Given the description of an element on the screen output the (x, y) to click on. 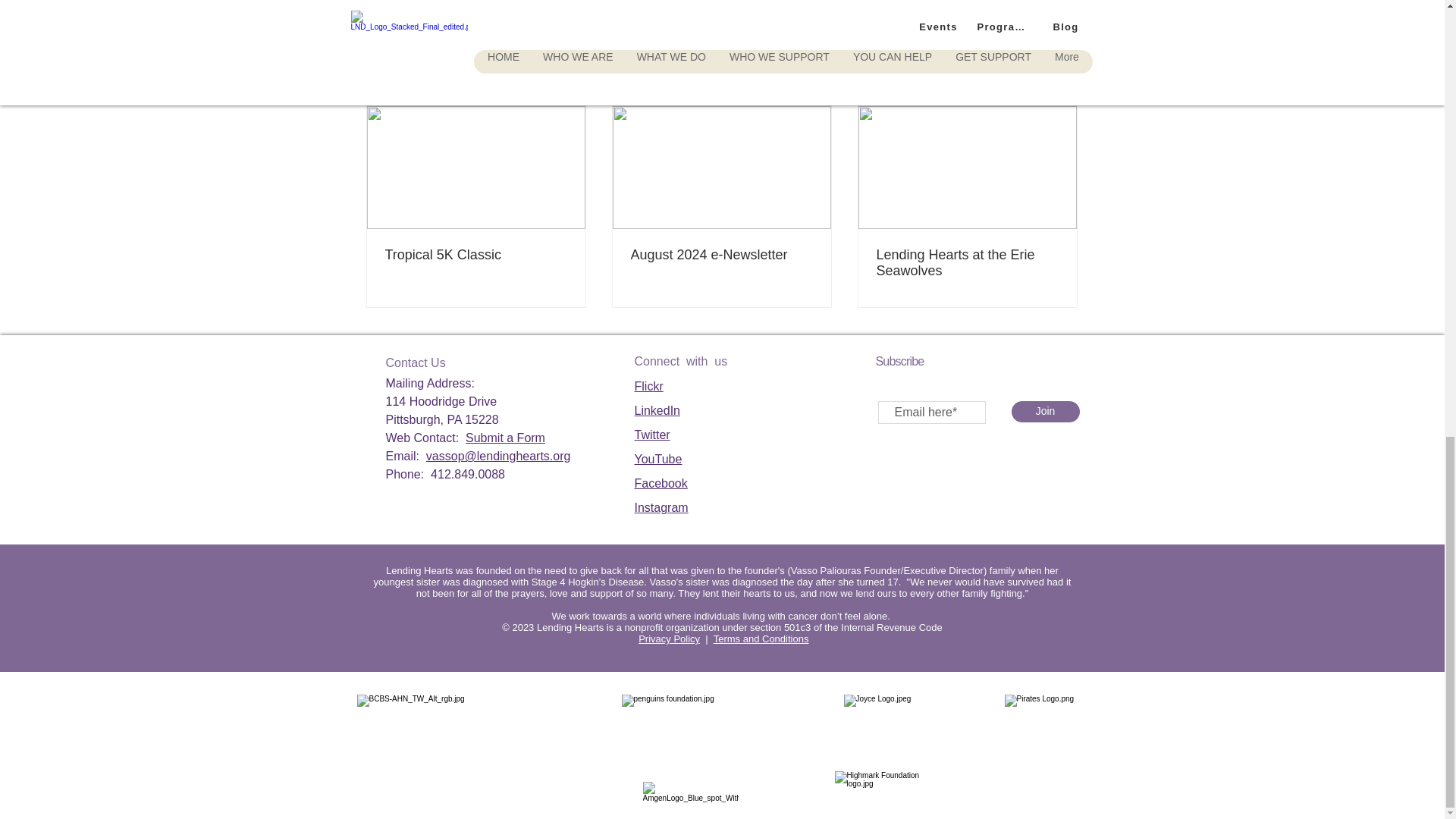
Flickr (647, 386)
Lending Hearts at the Erie Seawolves (967, 263)
August 2024 e-Newsletter (721, 254)
Twitter (651, 434)
Submit a Form (504, 437)
Tropical 5K Classic (476, 254)
LinkedIn (656, 410)
See All (1061, 78)
